Given the description of an element on the screen output the (x, y) to click on. 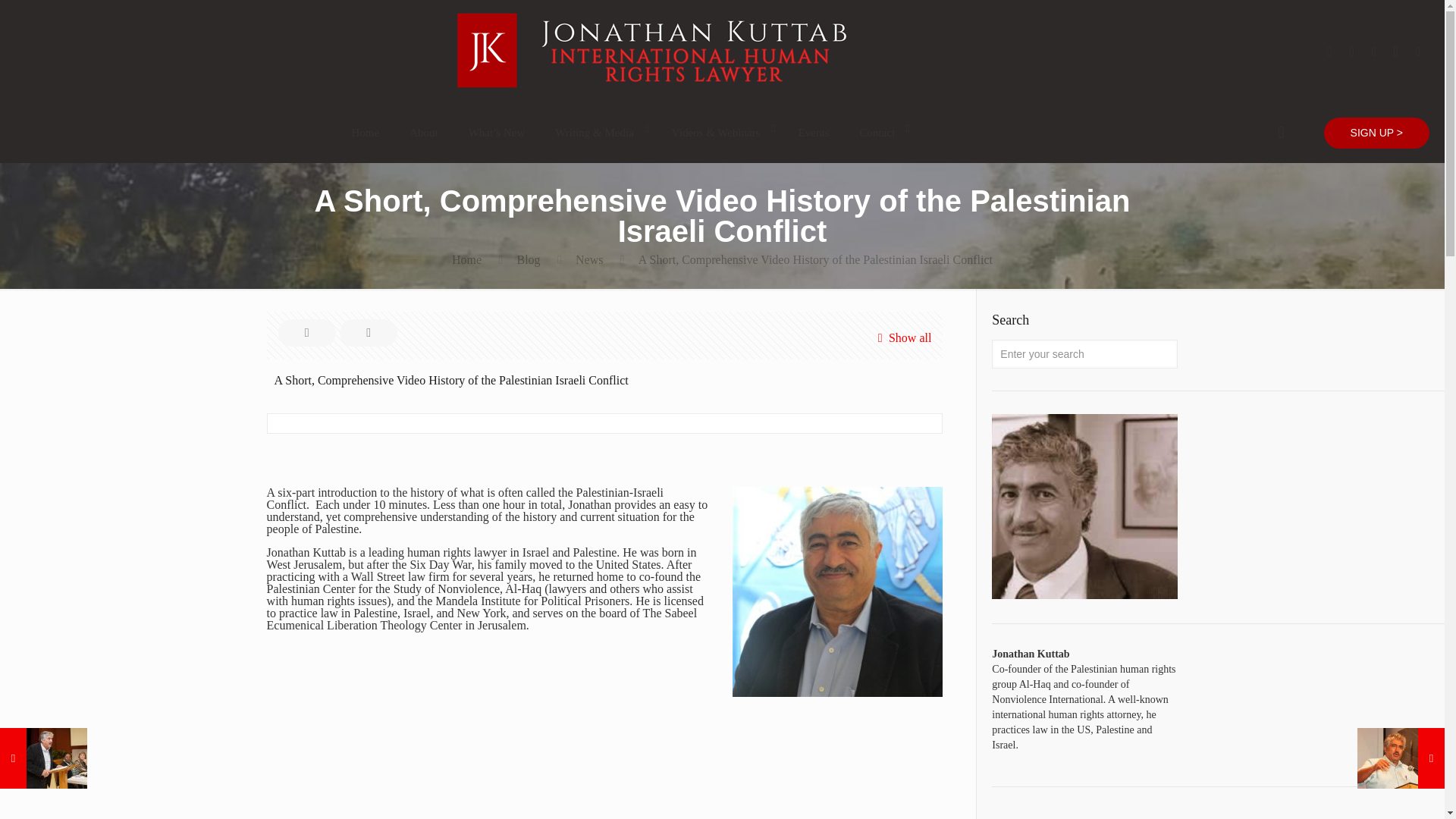
About (423, 132)
Events (813, 132)
Contact (880, 132)
Home (365, 132)
History of the Palestinian Israeli Conflict   Part 1 (430, 784)
History of the Palestinian Israeli Conflict   Part 3 (778, 784)
Jonathan Kuttab (652, 95)
